Given the description of an element on the screen output the (x, y) to click on. 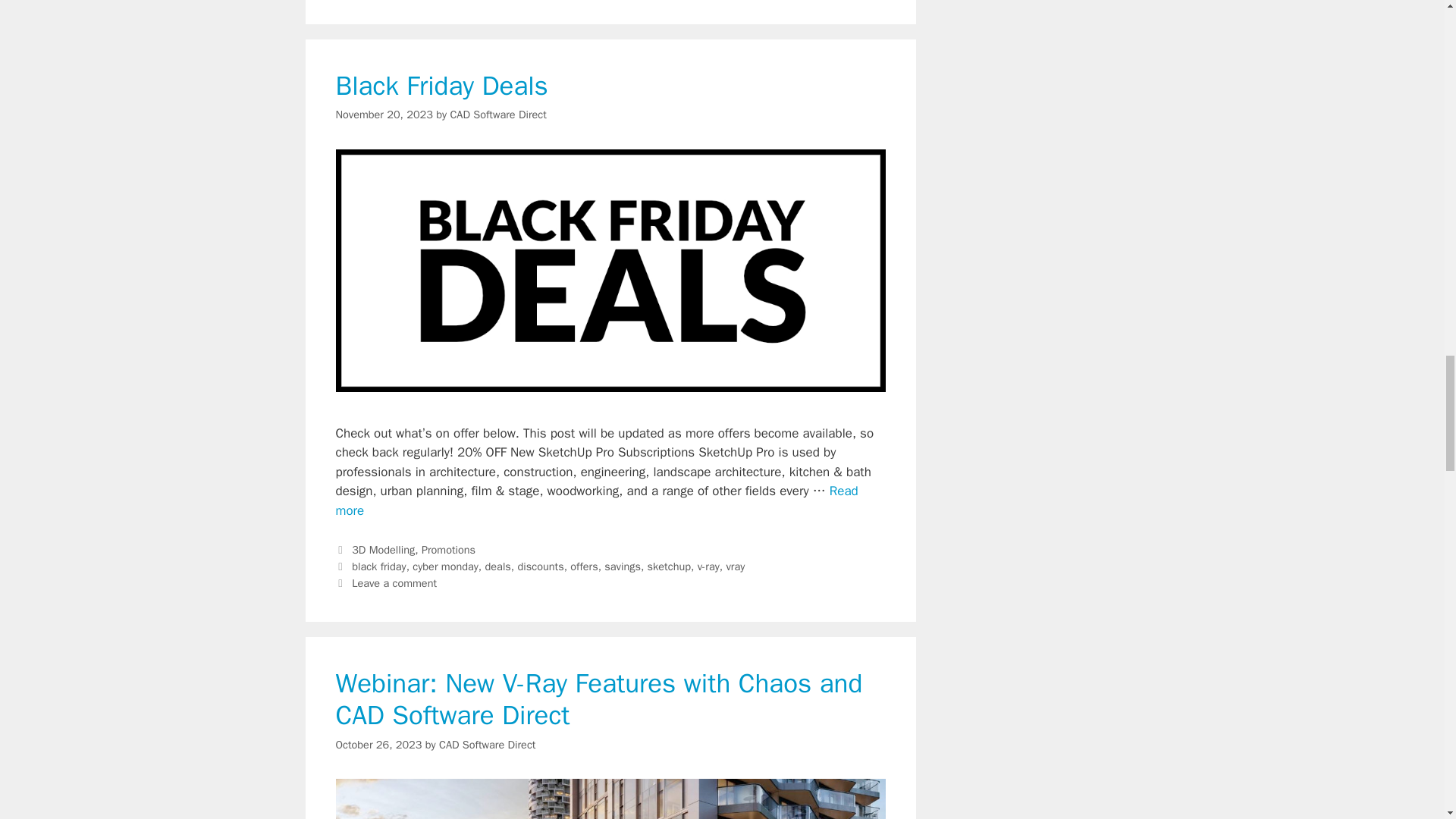
View all posts by CAD Software Direct (487, 744)
Black Friday Deals (595, 500)
View all posts by CAD Software Direct (497, 114)
